Given the description of an element on the screen output the (x, y) to click on. 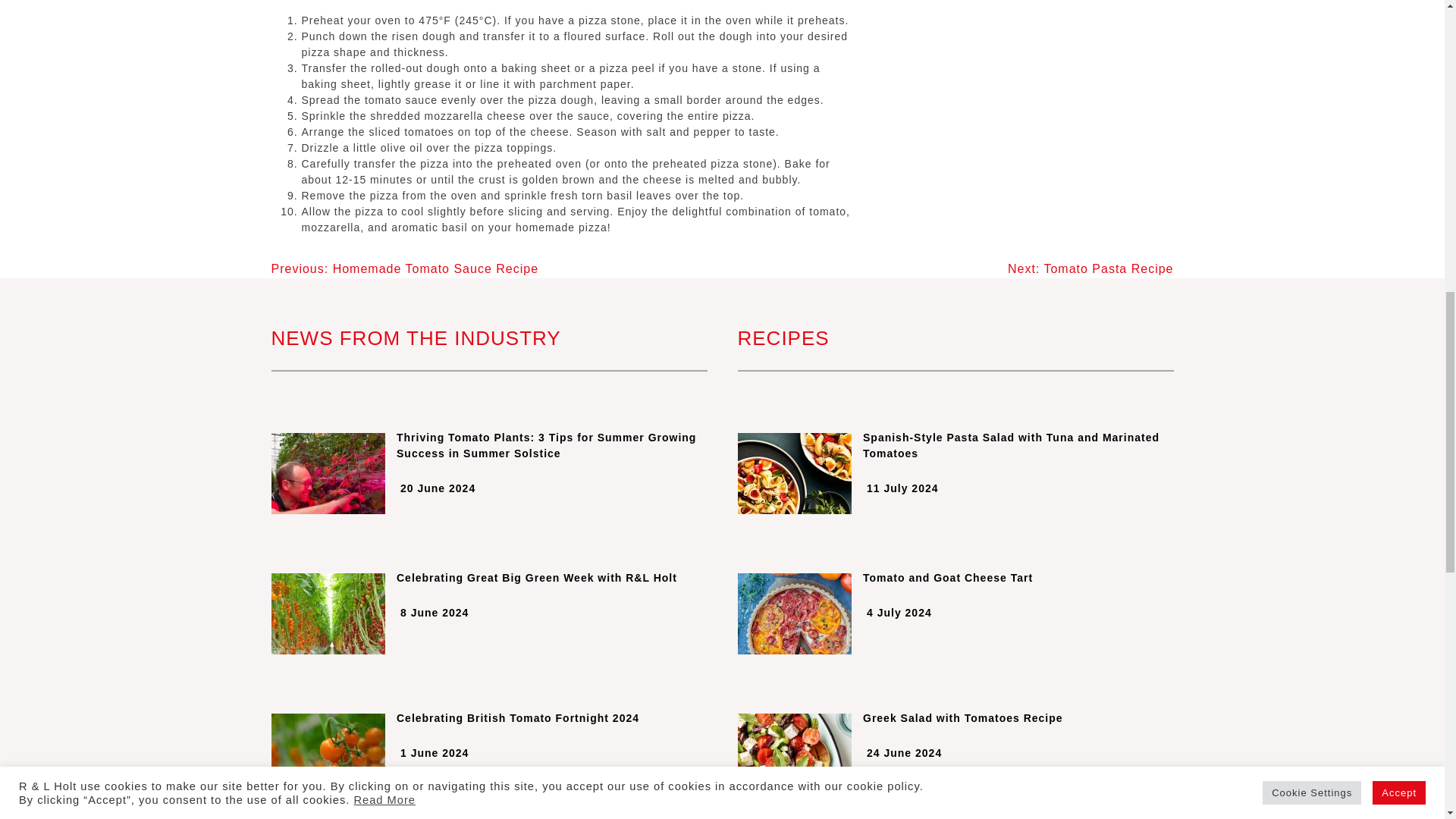
Spanish-Style Pasta Salad with Tuna and Marinated Tomatoes (954, 445)
Celebrating British Tomato Fortnight 2024 (488, 718)
Tomato and Goat Cheese Tart (954, 578)
Previous: Homemade Tomato Sauce Recipe (404, 268)
Next: Tomato Pasta Recipe (1090, 268)
